Given the description of an element on the screen output the (x, y) to click on. 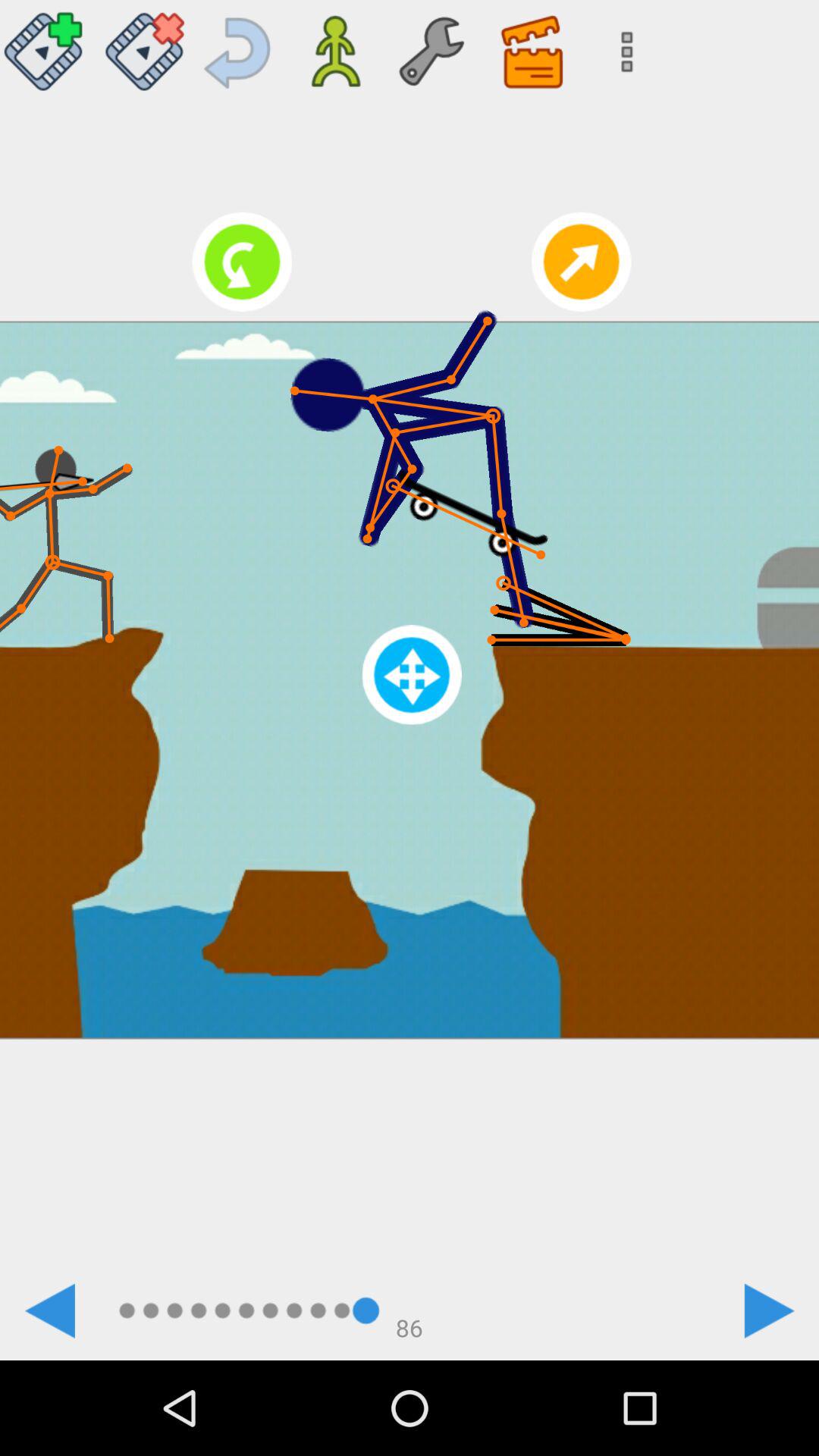
show menu options (621, 45)
